Given the description of an element on the screen output the (x, y) to click on. 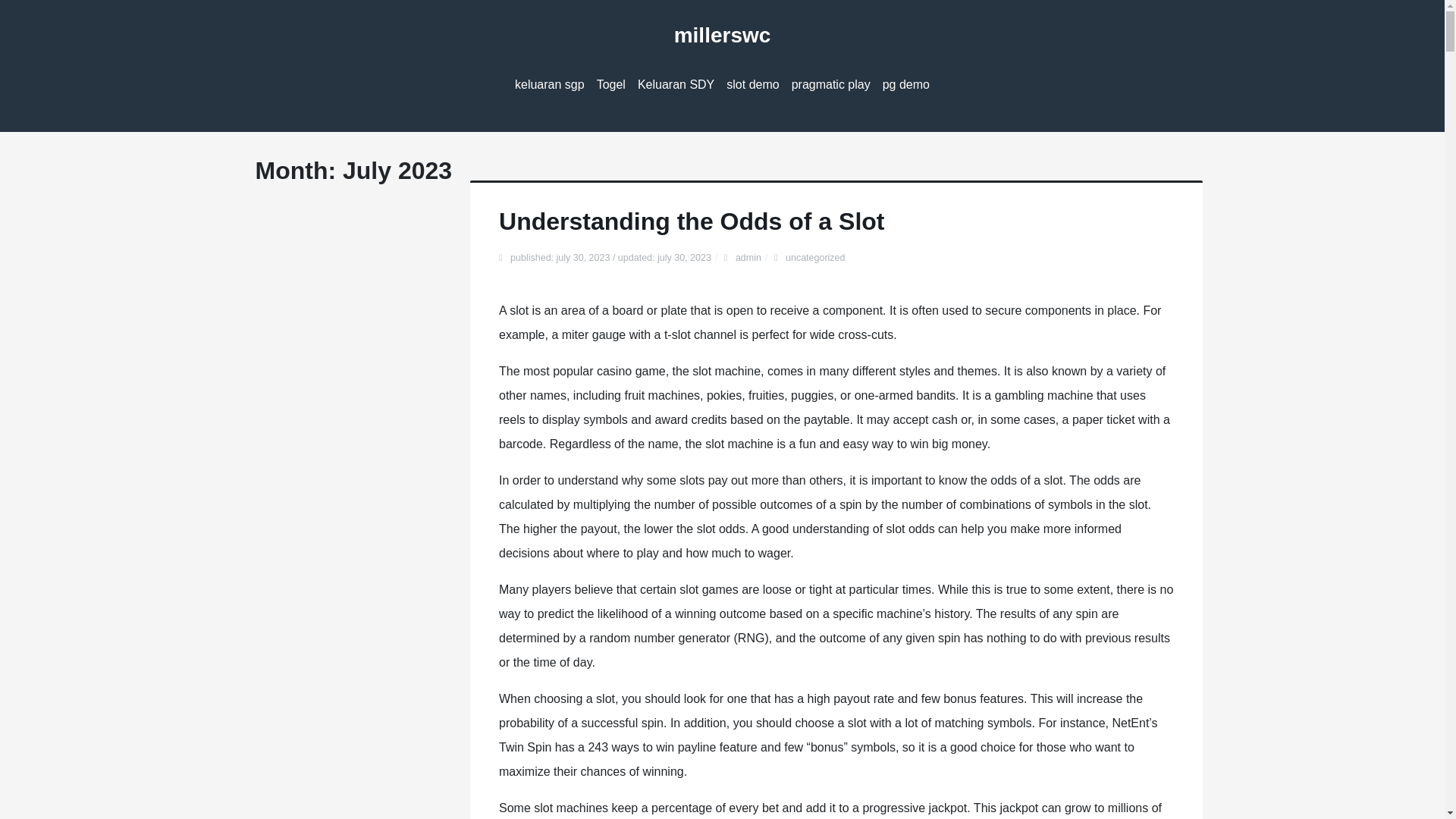
slot demo (752, 84)
pg demo (906, 84)
uncategorized (815, 257)
pg demo (906, 84)
millerswc (722, 34)
admin (748, 257)
Togel (611, 84)
Keluaran SDY (675, 84)
pragmatic play (831, 84)
Togel (611, 84)
Understanding the Odds of a Slot (691, 221)
pragmatic play (831, 84)
keluaran sgp (549, 84)
keluaran sgp (549, 84)
Keluaran SDY (675, 84)
